Given the description of an element on the screen output the (x, y) to click on. 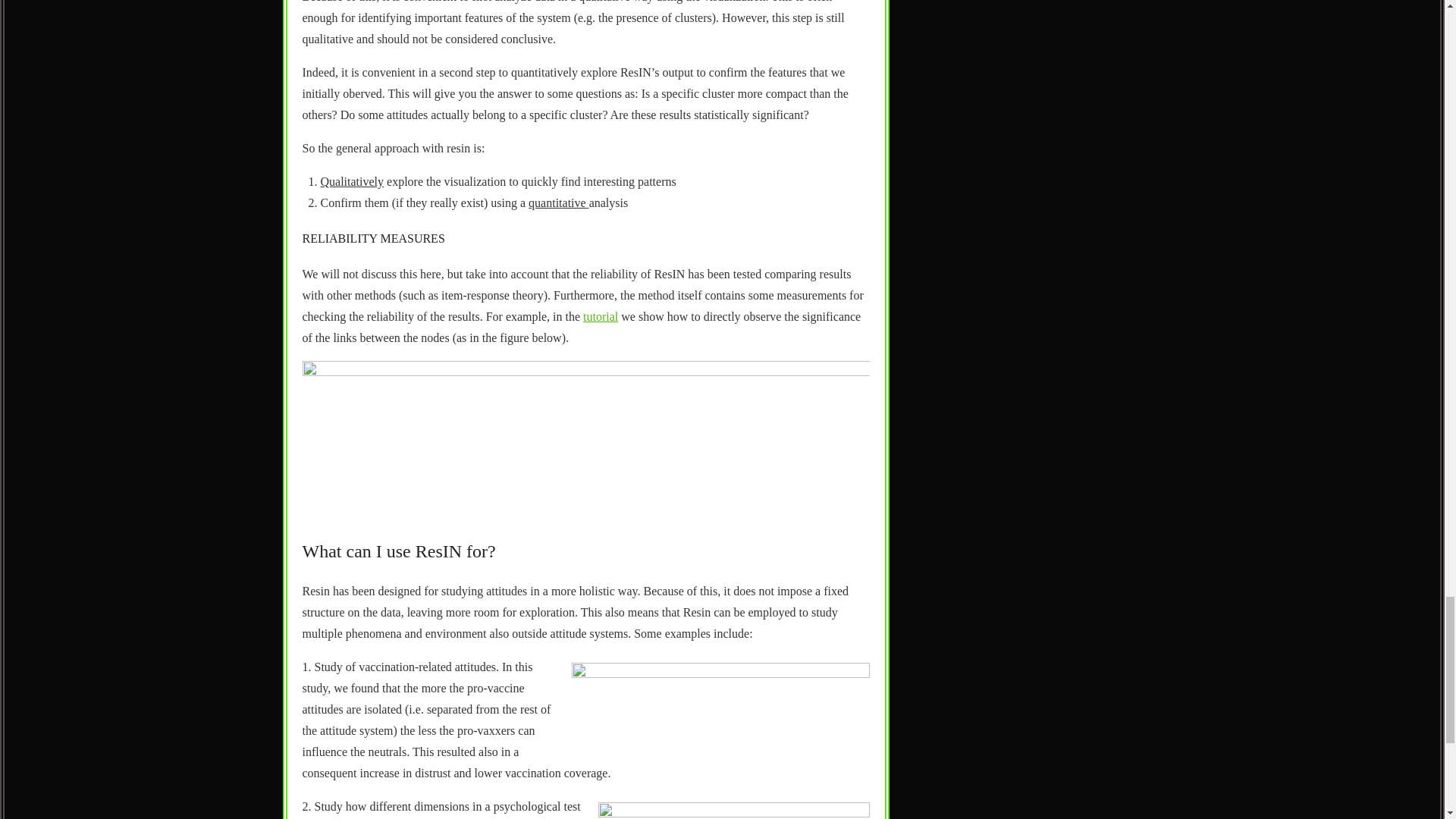
tutorial (600, 316)
